Given the description of an element on the screen output the (x, y) to click on. 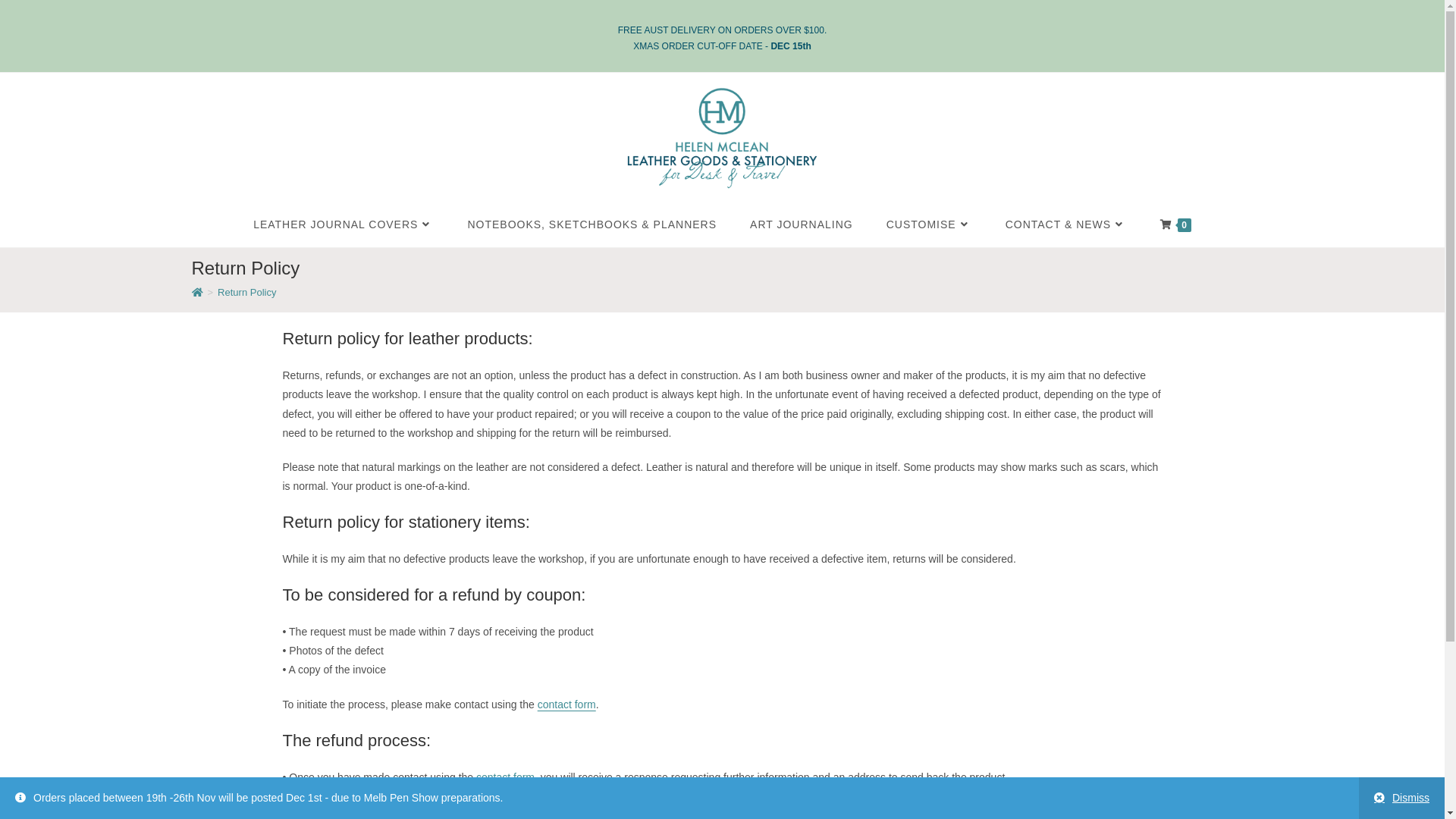
Return Policy Element type: text (246, 292)
ART JOURNALING Element type: text (801, 224)
NOTEBOOKS, SKETCHBOOKS & PLANNERS Element type: text (591, 224)
LEATHER JOURNAL COVERS Element type: text (343, 224)
CUSTOMISE Element type: text (928, 224)
CONTACT & NEWS Element type: text (1066, 224)
contact form Element type: text (566, 704)
contact form Element type: text (505, 777)
0 Element type: text (1175, 224)
